Given the description of an element on the screen output the (x, y) to click on. 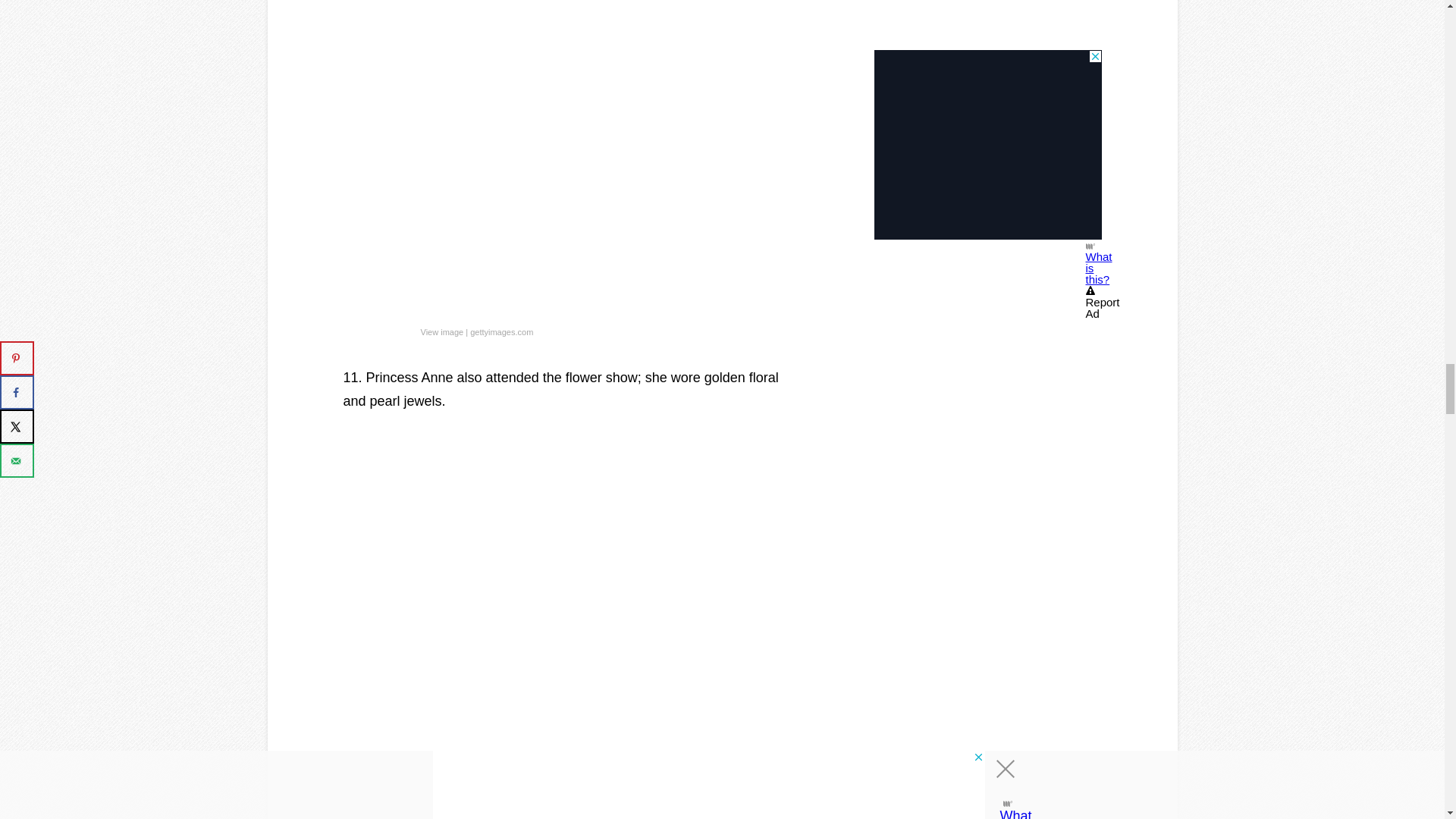
View image (441, 332)
gettyimages.com (501, 332)
